Given the description of an element on the screen output the (x, y) to click on. 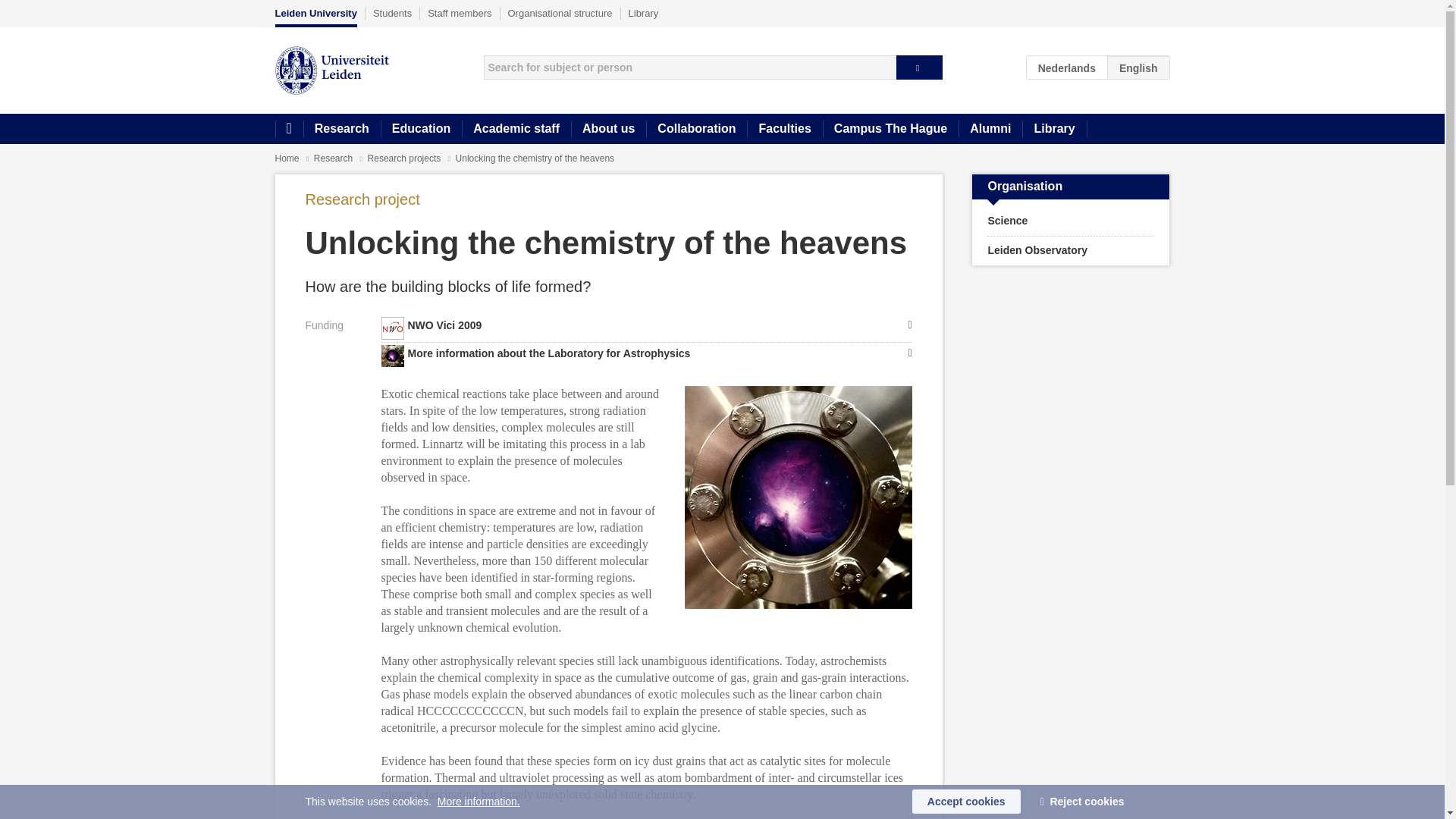
NL (1067, 67)
Research (341, 128)
Library (643, 13)
Campus The Hague (890, 128)
Collaboration (696, 128)
Home (286, 158)
Education (420, 128)
NWO Vici 2009 (645, 324)
Home (288, 128)
Organisational structure (560, 13)
